Given the description of an element on the screen output the (x, y) to click on. 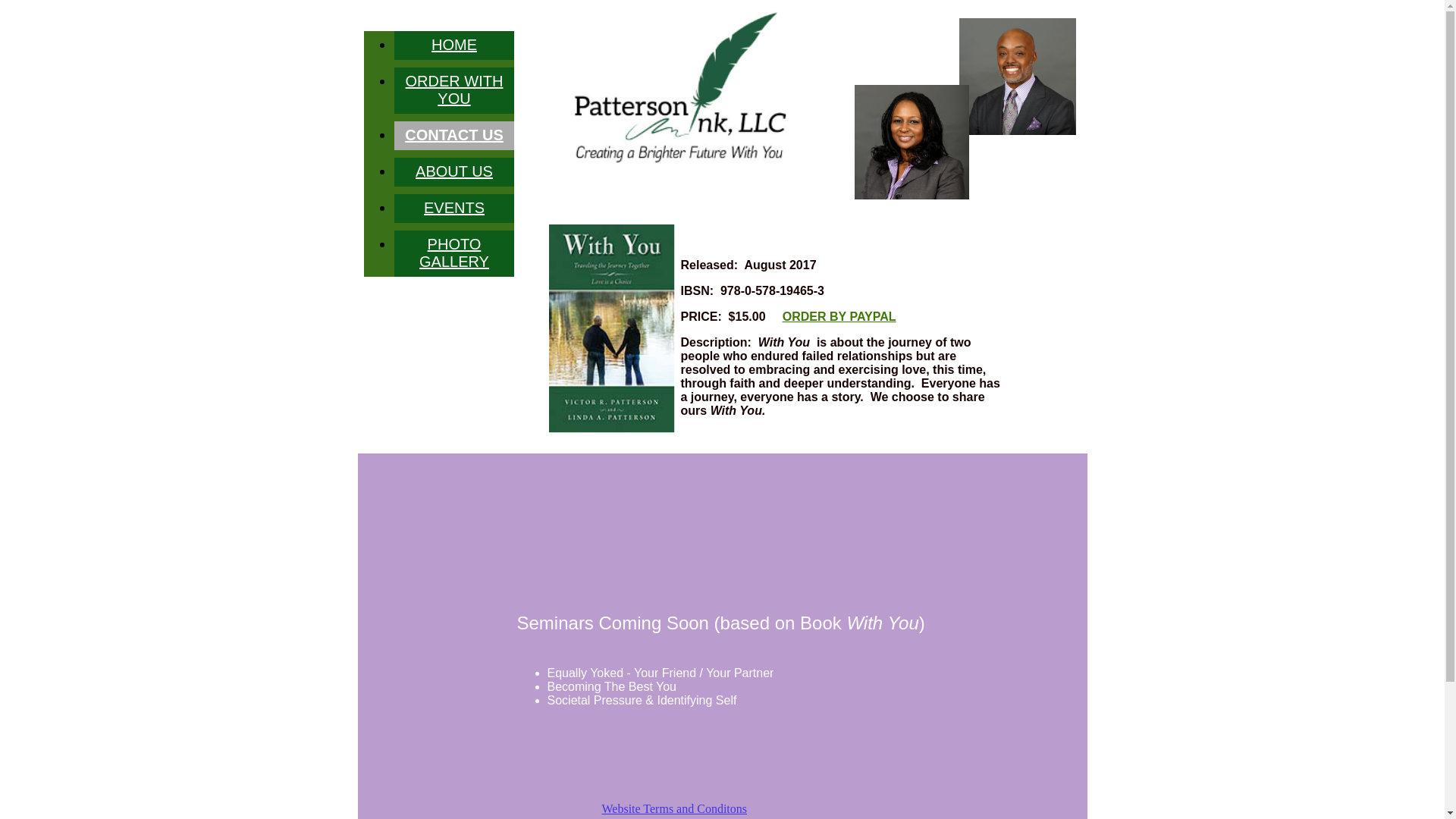
ORDER WITH YOU Element type: text (454, 89)
ORDER BY PAYPAL Element type: text (839, 316)
EVENTS Element type: text (453, 207)
ABOUT US Element type: text (453, 171)
CONTACT US Element type: text (453, 134)
HOME Element type: text (453, 44)
Website Terms and Conditons Element type: text (725, 808)
PHOTO GALLERY Element type: text (454, 252)
